Given the description of an element on the screen output the (x, y) to click on. 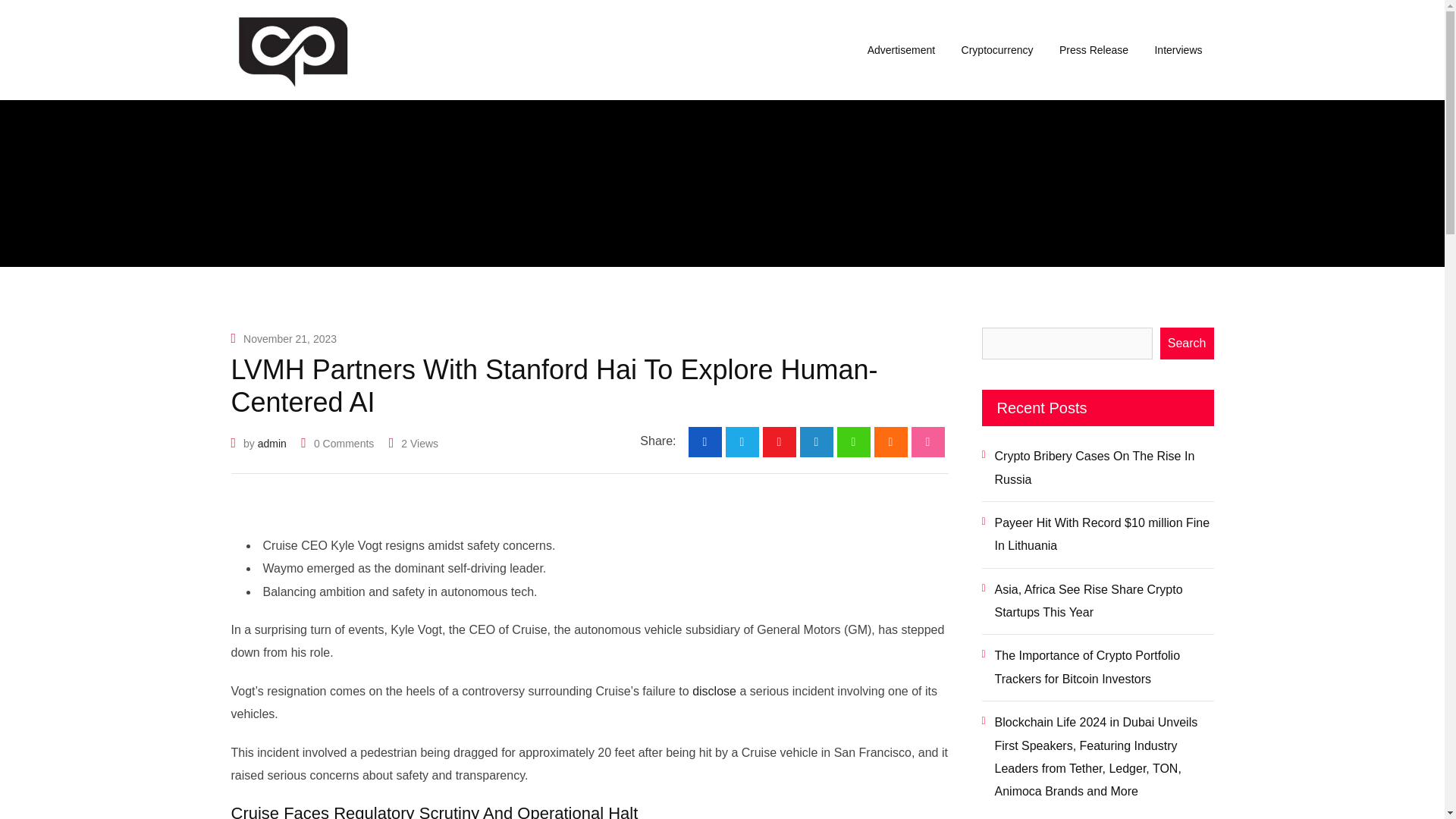
Press Release (1094, 49)
StumbleUpon (927, 441)
Youtube (779, 441)
Advertisement (901, 49)
Cryptocurrency (997, 49)
admin (271, 443)
Crypto Bribery Cases On The Rise In Russia (1096, 468)
Whatsapp (853, 441)
Interviews (1177, 49)
